Given the description of an element on the screen output the (x, y) to click on. 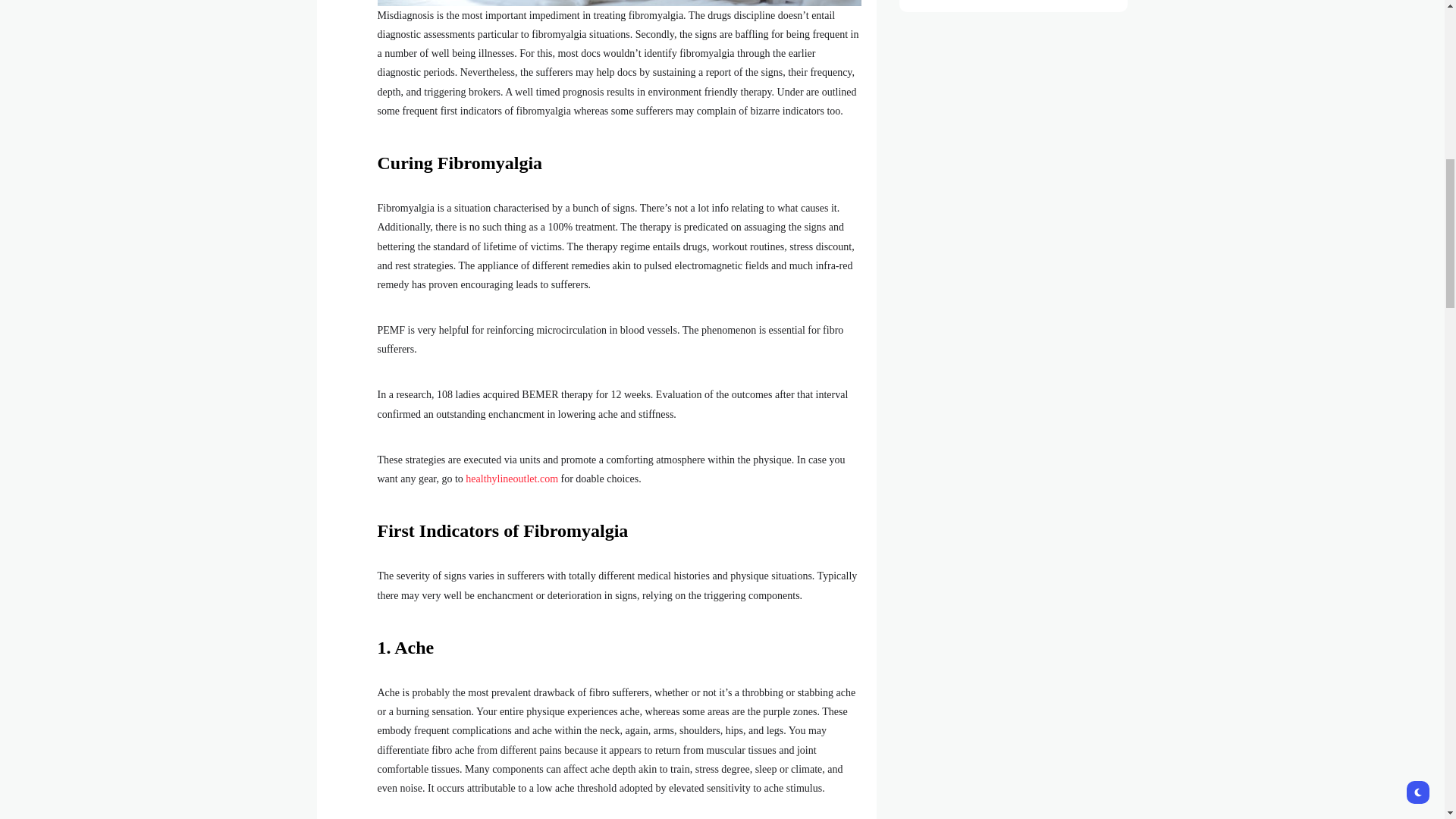
healthylineoutlet.com (511, 478)
